Given the description of an element on the screen output the (x, y) to click on. 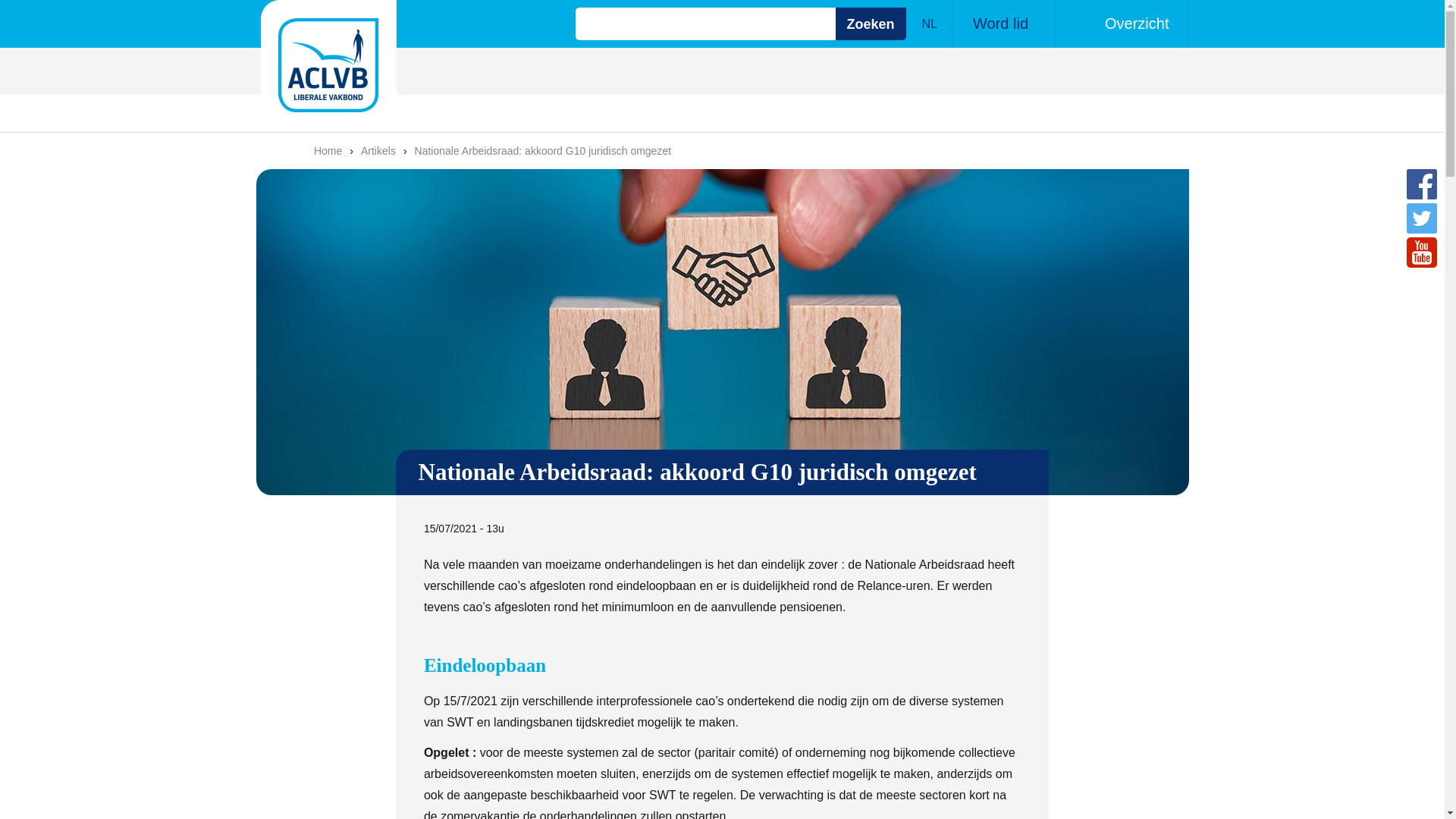
Nationale Arbeidsraad: akkoord G10 juridisch omgezet Element type: text (542, 150)
Word lid Element type: text (1002, 23)
Home Element type: text (327, 150)
Zoeken Element type: text (870, 23)
facebook Element type: hover (1421, 184)
twitter Element type: hover (1421, 218)
youtube Element type: hover (1421, 252)
Home Element type: hover (328, 68)
Artikels Element type: text (377, 150)
Overzicht Element type: text (1121, 23)
Overslaan en naar de inhoud gaan Element type: text (93, 0)
banner-nar-akkoord-g10.jpg Element type: hover (722, 332)
NL Element type: text (929, 23)
